Given the description of an element on the screen output the (x, y) to click on. 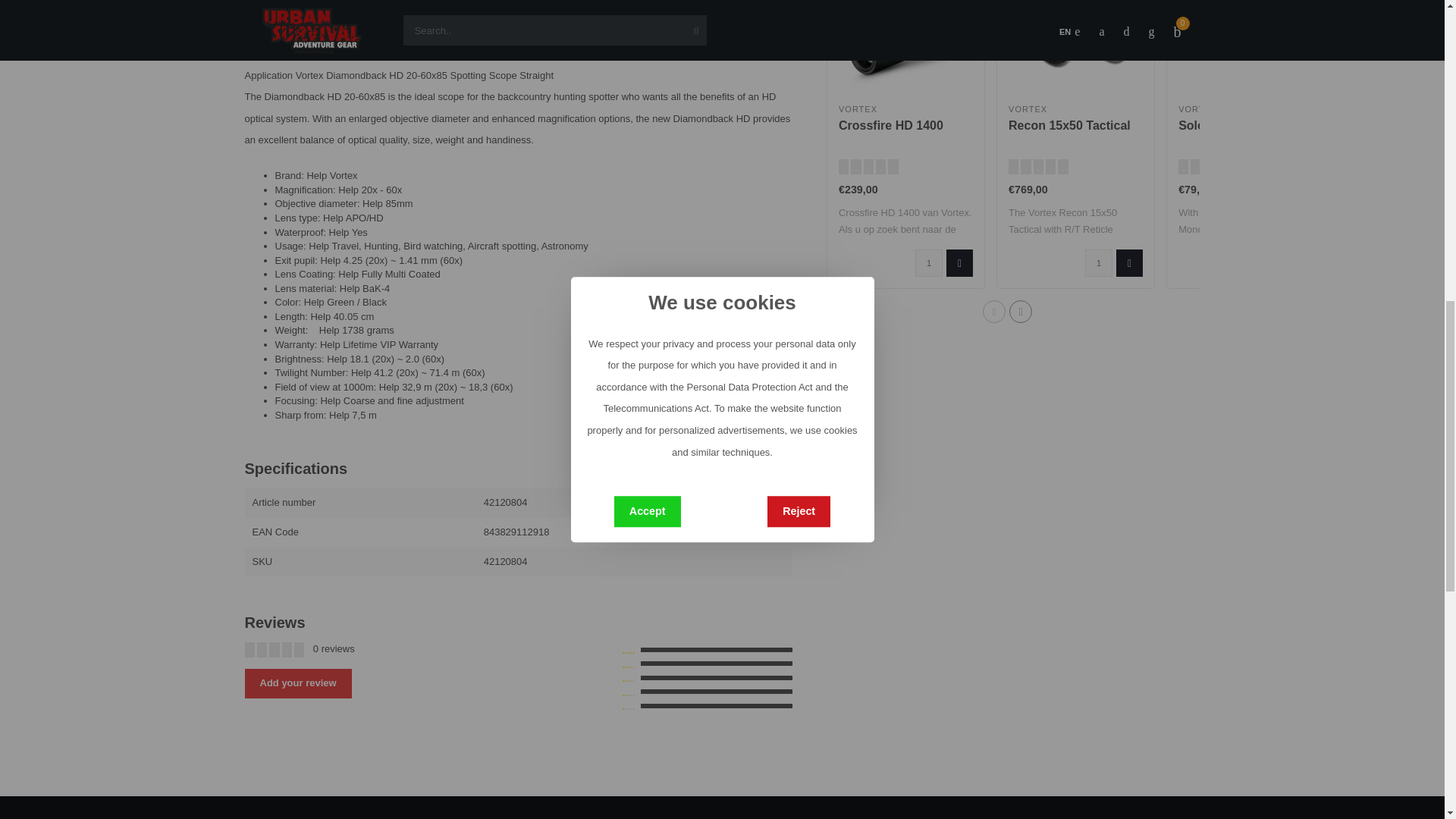
1 (1098, 262)
1 (928, 262)
